Given the description of an element on the screen output the (x, y) to click on. 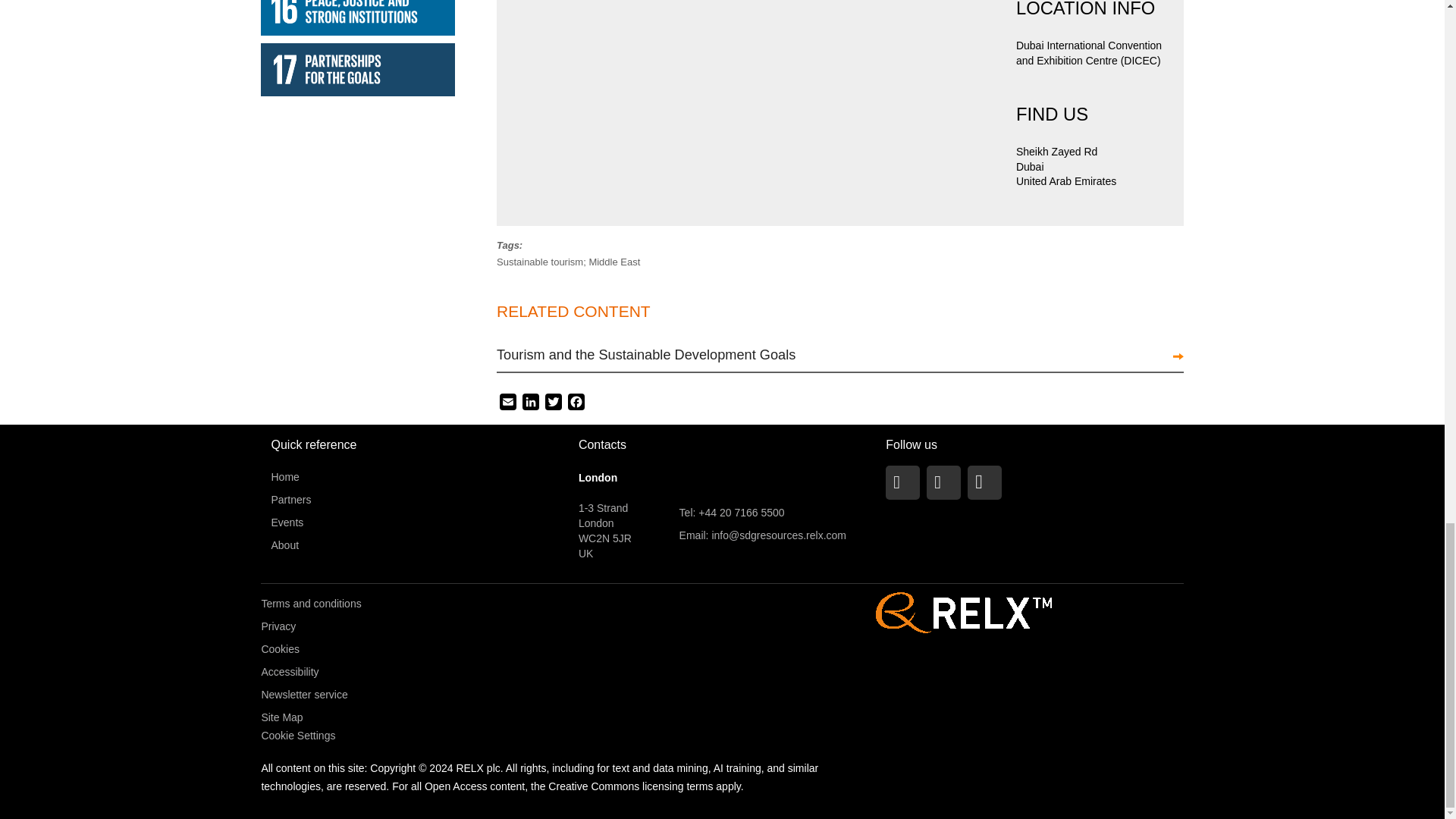
Email (507, 401)
Sustainable tourism (539, 261)
Tourism and the Sustainable Development Goals (645, 354)
LinkedIn (530, 401)
Middle East (614, 261)
